Given the description of an element on the screen output the (x, y) to click on. 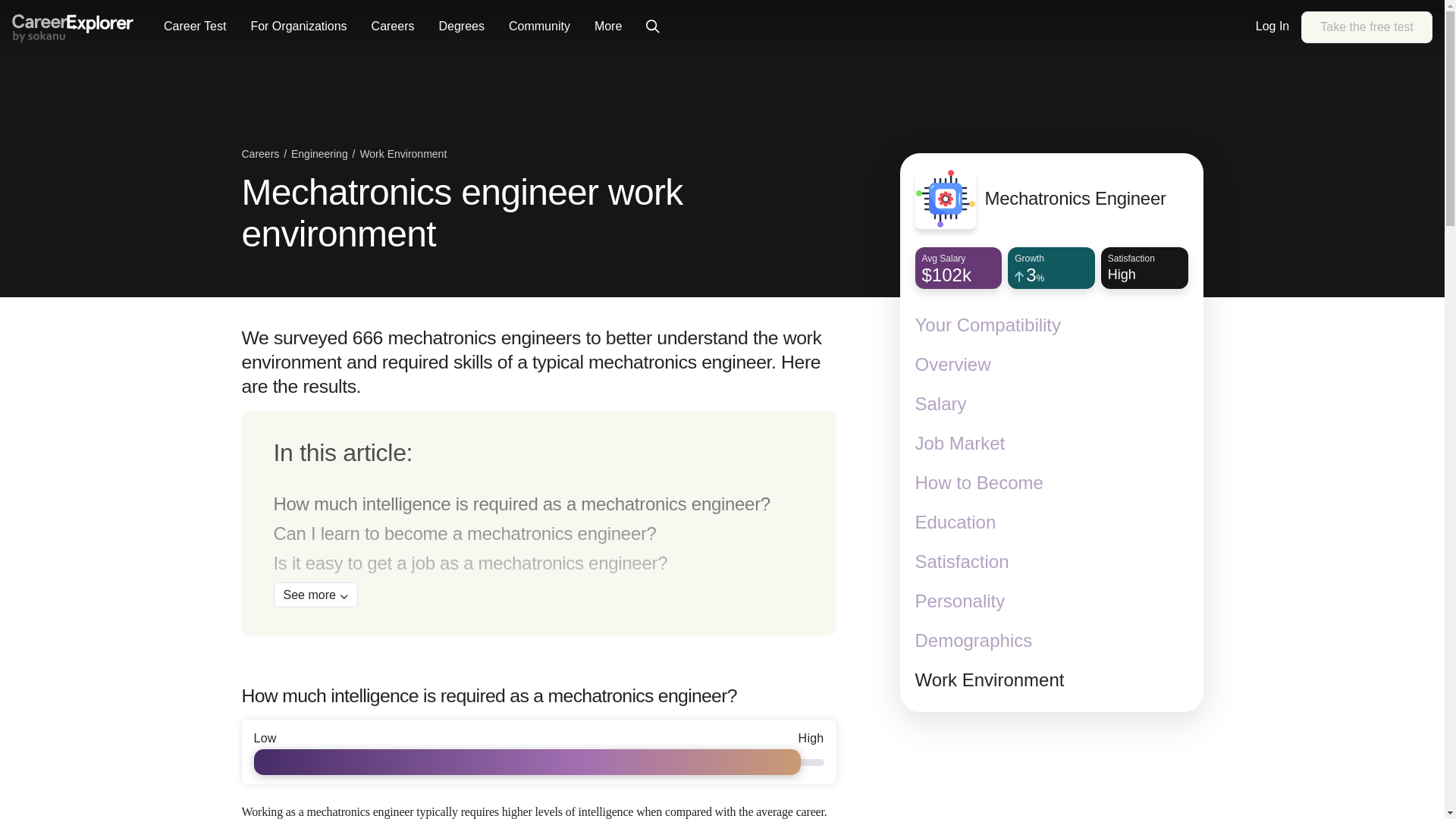
Engineering (320, 154)
Table of contents (538, 523)
Career Test (194, 27)
CareerExplorer (72, 28)
For Organizations (298, 27)
CareerExplorer (72, 27)
3.3470346447445682 (1366, 26)
Careers (1050, 276)
Community (261, 154)
